Given the description of an element on the screen output the (x, y) to click on. 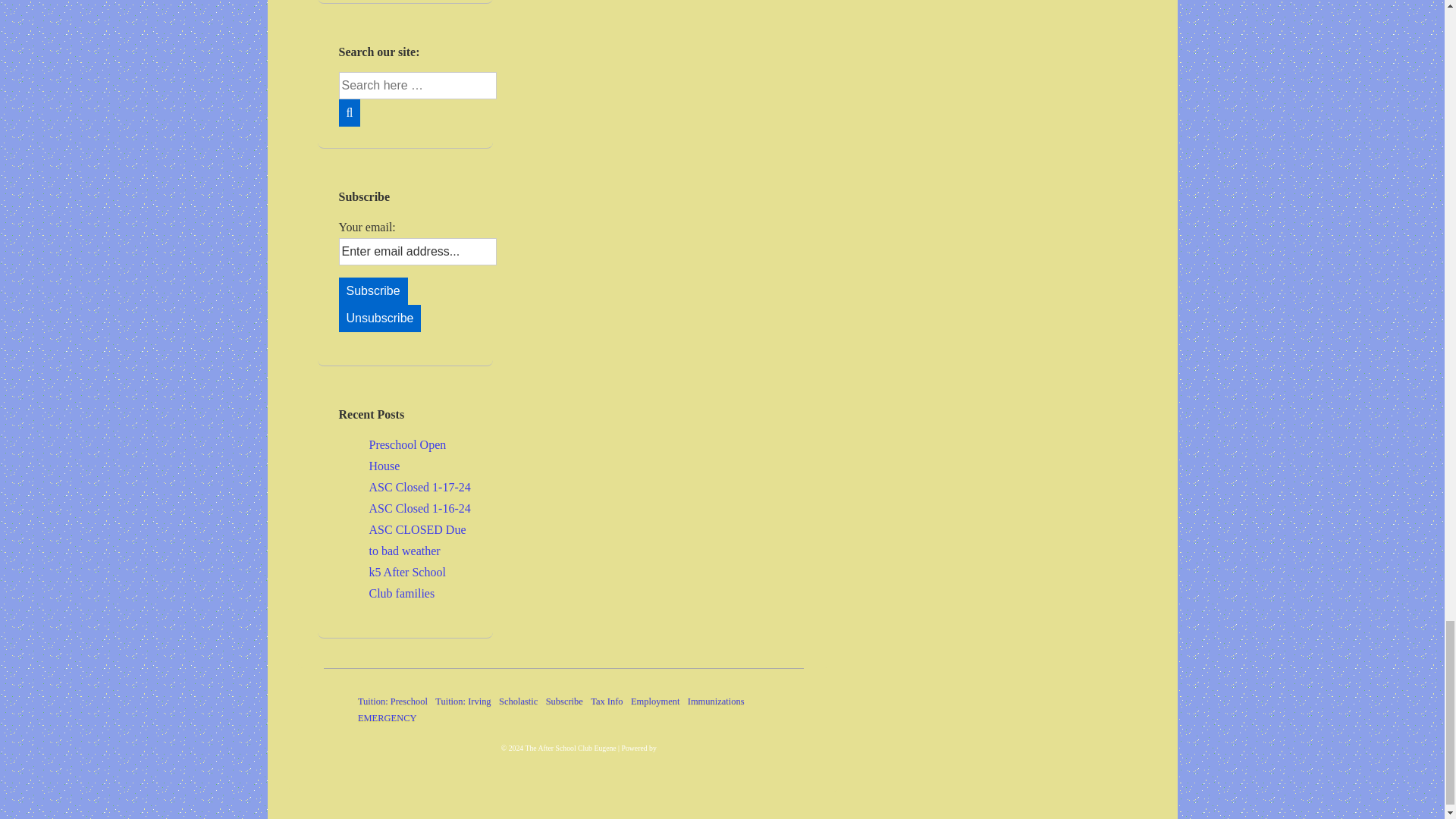
Permanent link to ASC CLOSED Due to bad weather (416, 540)
Unsubscribe (378, 318)
k5 After School Club families (406, 582)
ASC Closed 1-16-24 (419, 508)
Tuition: Preschool (393, 701)
Enter email address... (416, 251)
Tuition: Irving (462, 701)
ASC CLOSED Due to bad weather (416, 540)
Subscribe (372, 290)
Permanent link to k5 After School Club families (406, 582)
